Given the description of an element on the screen output the (x, y) to click on. 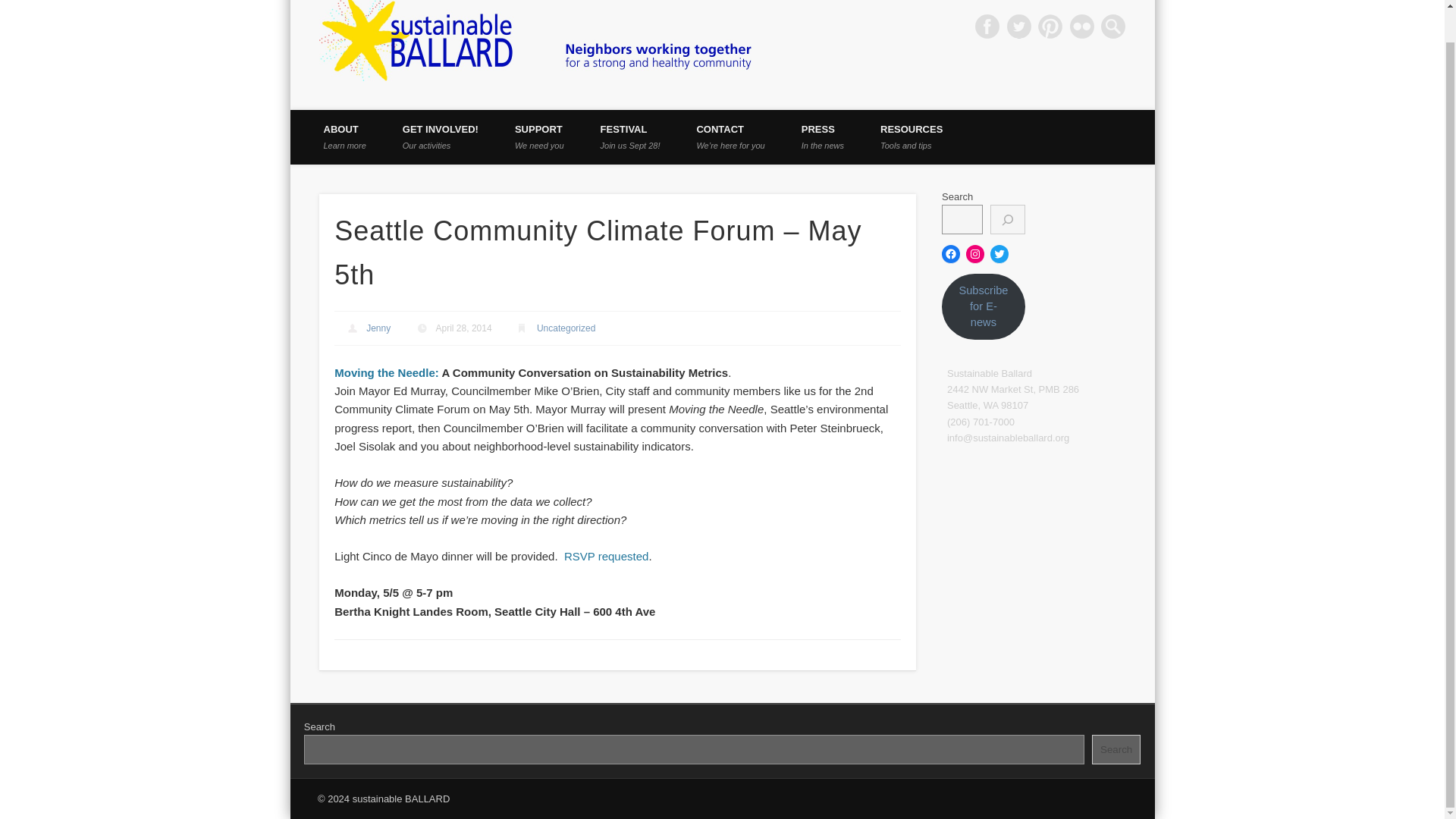
Twitter (822, 136)
Posts by Jenny (1018, 26)
Facebook (378, 327)
Flickr (986, 26)
Pinterest (630, 136)
sustainable BALLARD (344, 136)
